Given the description of an element on the screen output the (x, y) to click on. 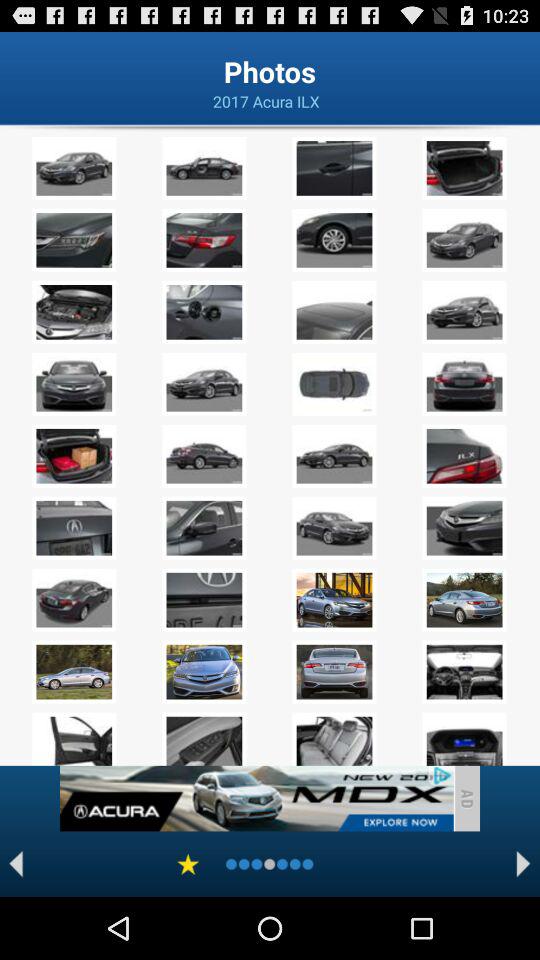
goes to next page (523, 864)
